Given the description of an element on the screen output the (x, y) to click on. 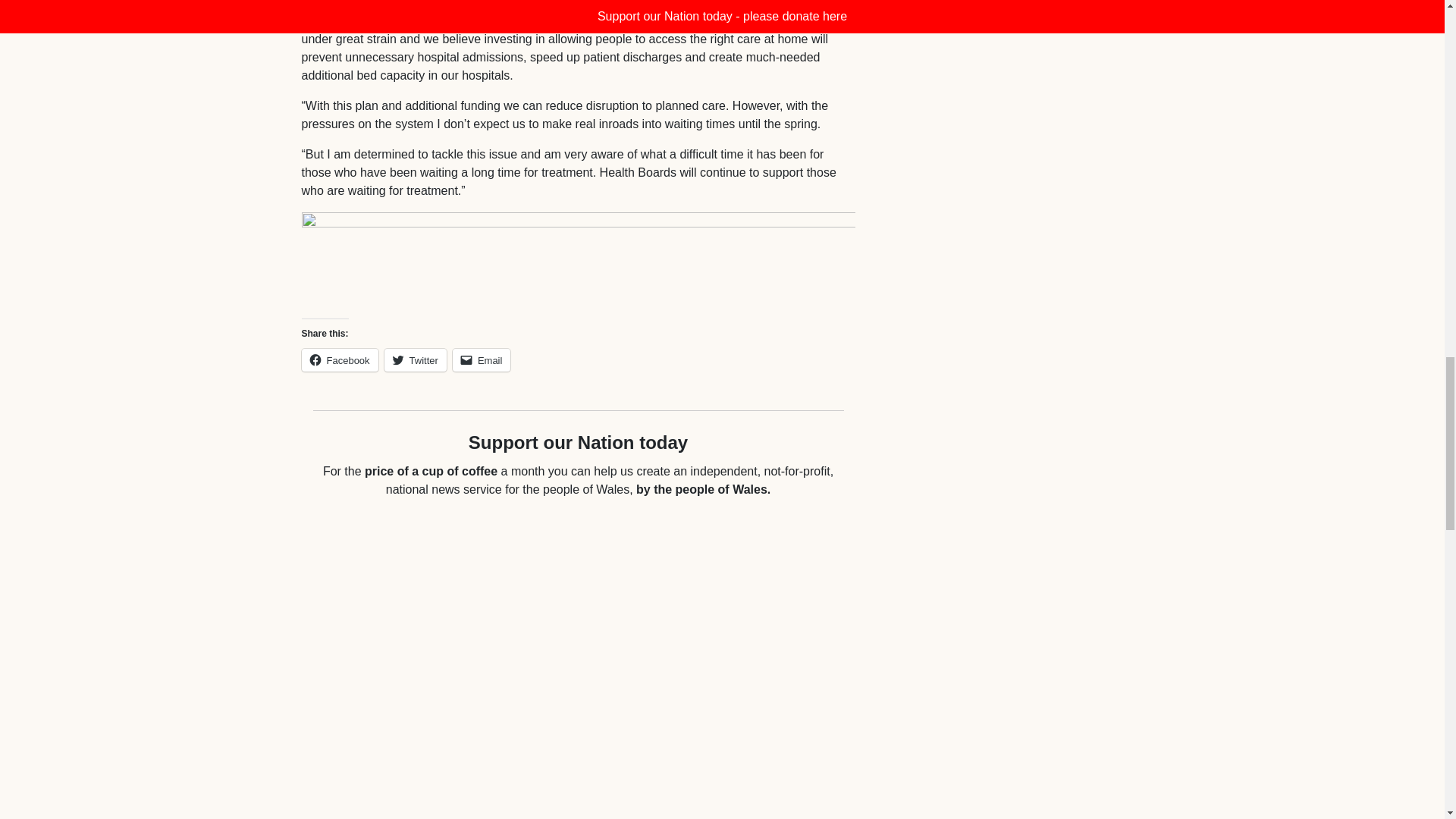
Click to share on Facebook (339, 359)
Twitter (415, 359)
Click to email a link to a friend (481, 359)
Facebook (339, 359)
Click to share on Twitter (415, 359)
Email (481, 359)
